Given the description of an element on the screen output the (x, y) to click on. 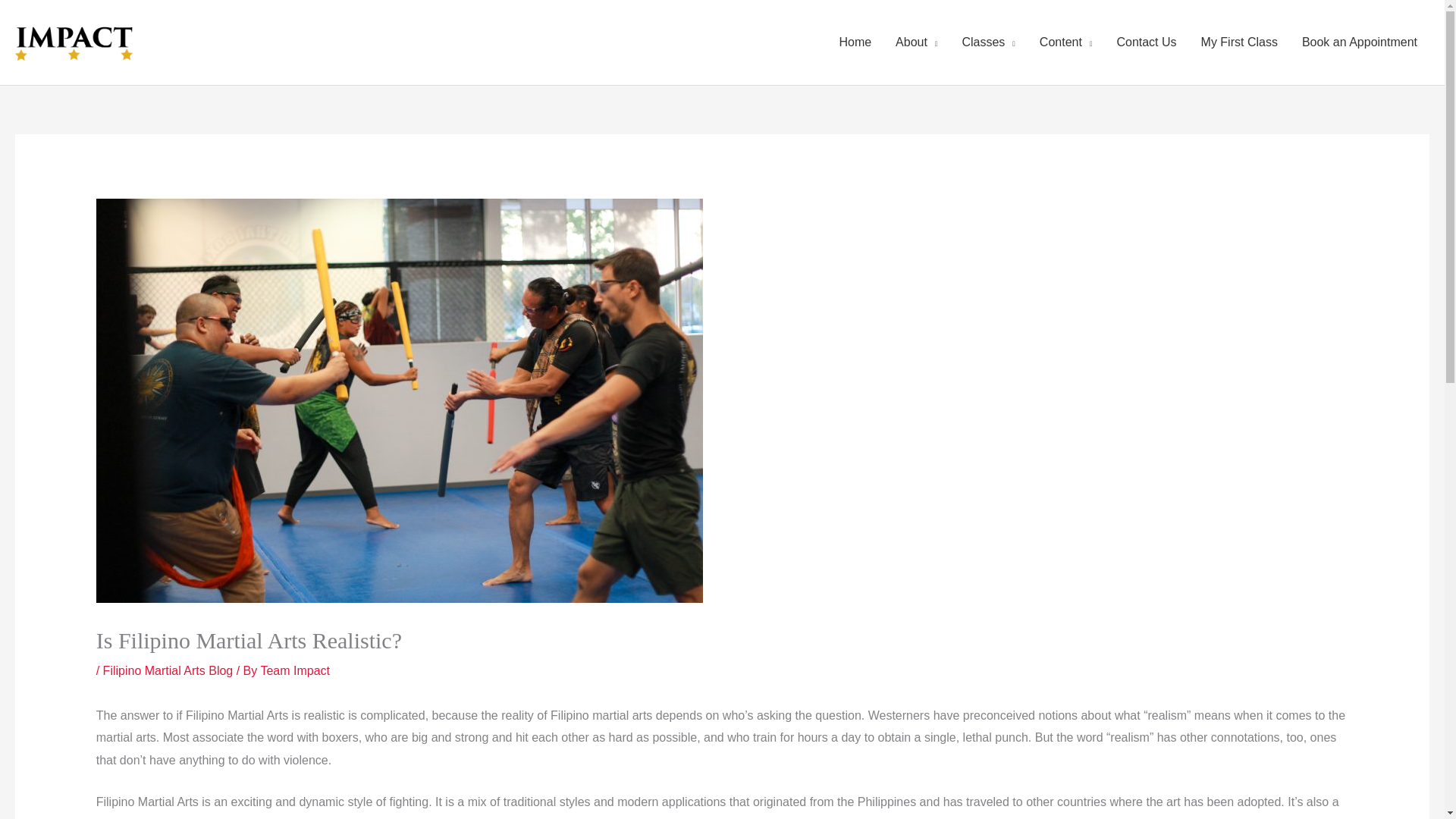
Classes (987, 42)
Contact Us (1145, 42)
Book an Appointment (1359, 42)
Filipino Martial Arts Blog (167, 670)
My First Class (1239, 42)
Home (855, 42)
Content (1066, 42)
View all posts by Team Impact (295, 670)
About (916, 42)
Team Impact (295, 670)
